Given the description of an element on the screen output the (x, y) to click on. 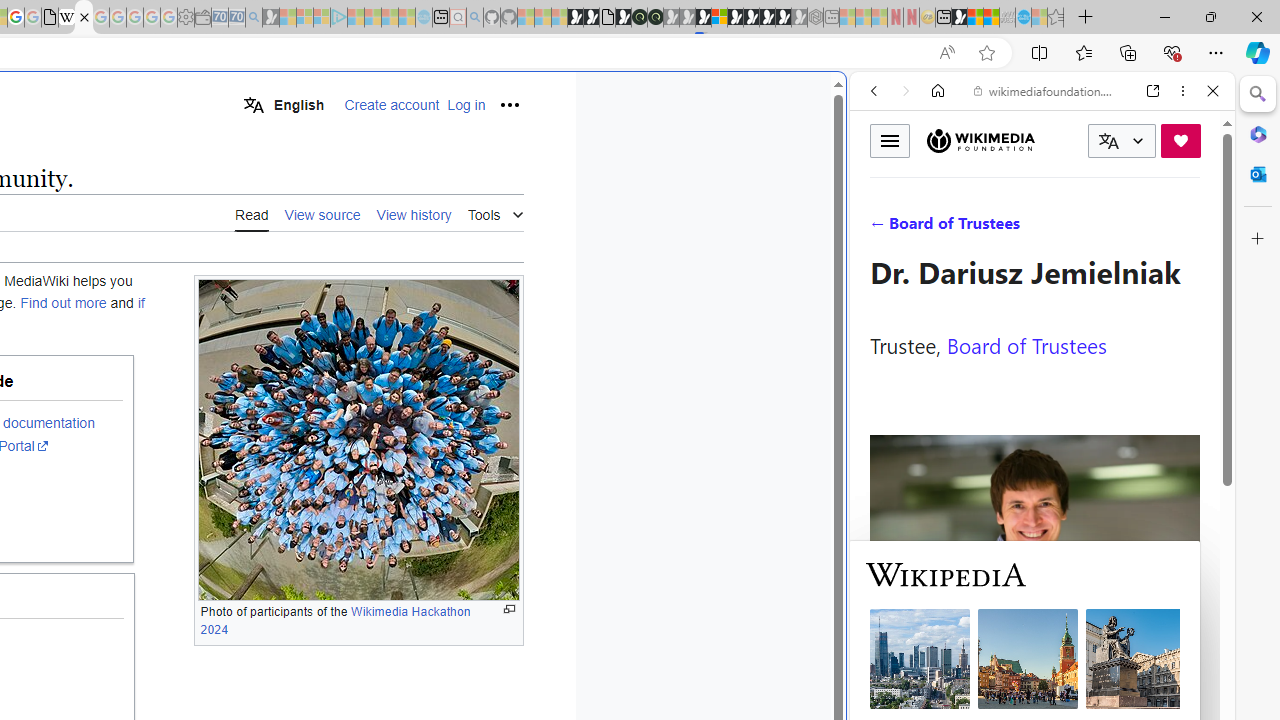
Global web icon (888, 669)
Close Customize pane (1258, 239)
This site scope (936, 180)
Search Filter, VIDEOS (1006, 228)
Donate now (1180, 140)
Services - Maintenance | Sky Blue Bikes - Sky Blue Bikes (1023, 17)
MSN (959, 17)
Web scope (882, 180)
Search or enter web address (343, 191)
Personal tools (508, 104)
